Given the description of an element on the screen output the (x, y) to click on. 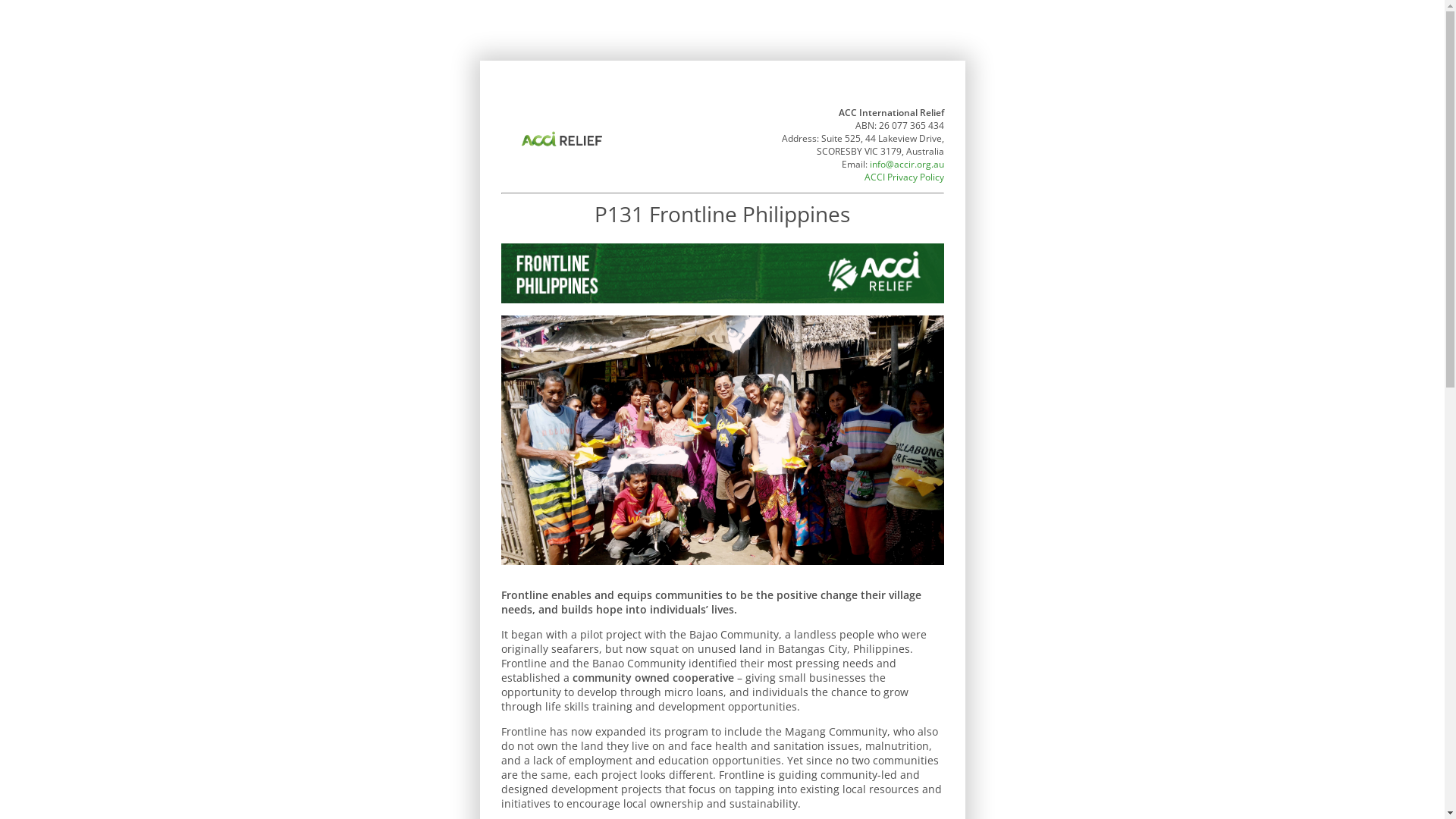
ACCI Relief Element type: hover (560, 140)
info@accir.org.au Element type: text (906, 163)
ACCI Privacy Policy Element type: text (904, 176)
